Given the description of an element on the screen output the (x, y) to click on. 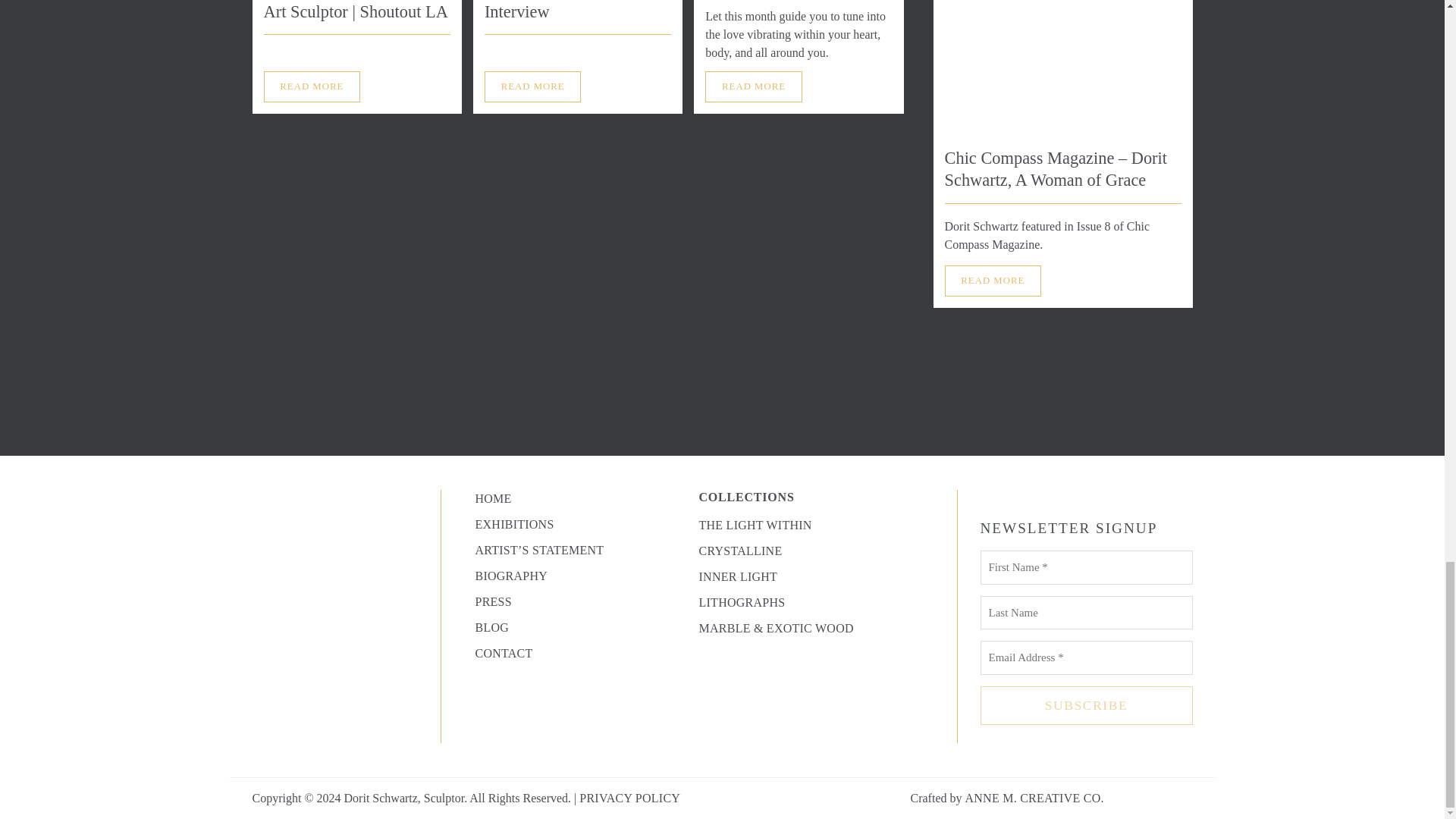
Subscribe (1085, 705)
Voyage LA Magazine Interview (557, 10)
READ MORE (532, 86)
READ MORE (993, 280)
READ MORE (753, 86)
DORIT SCHWARTZ SCULPTOR (345, 616)
READ MORE (312, 86)
HOME (492, 498)
